Given the description of an element on the screen output the (x, y) to click on. 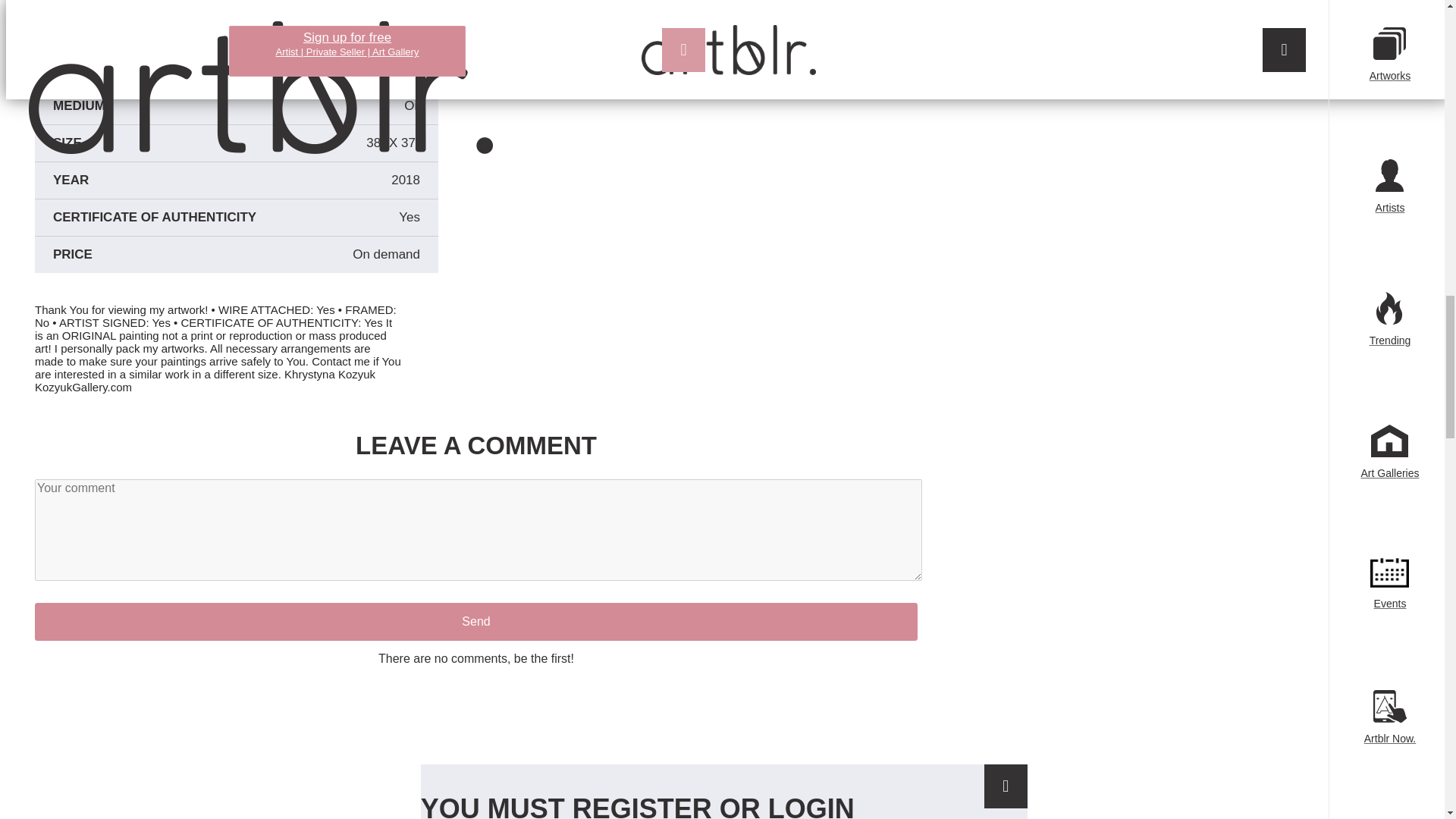
Send (475, 621)
